Given the description of an element on the screen output the (x, y) to click on. 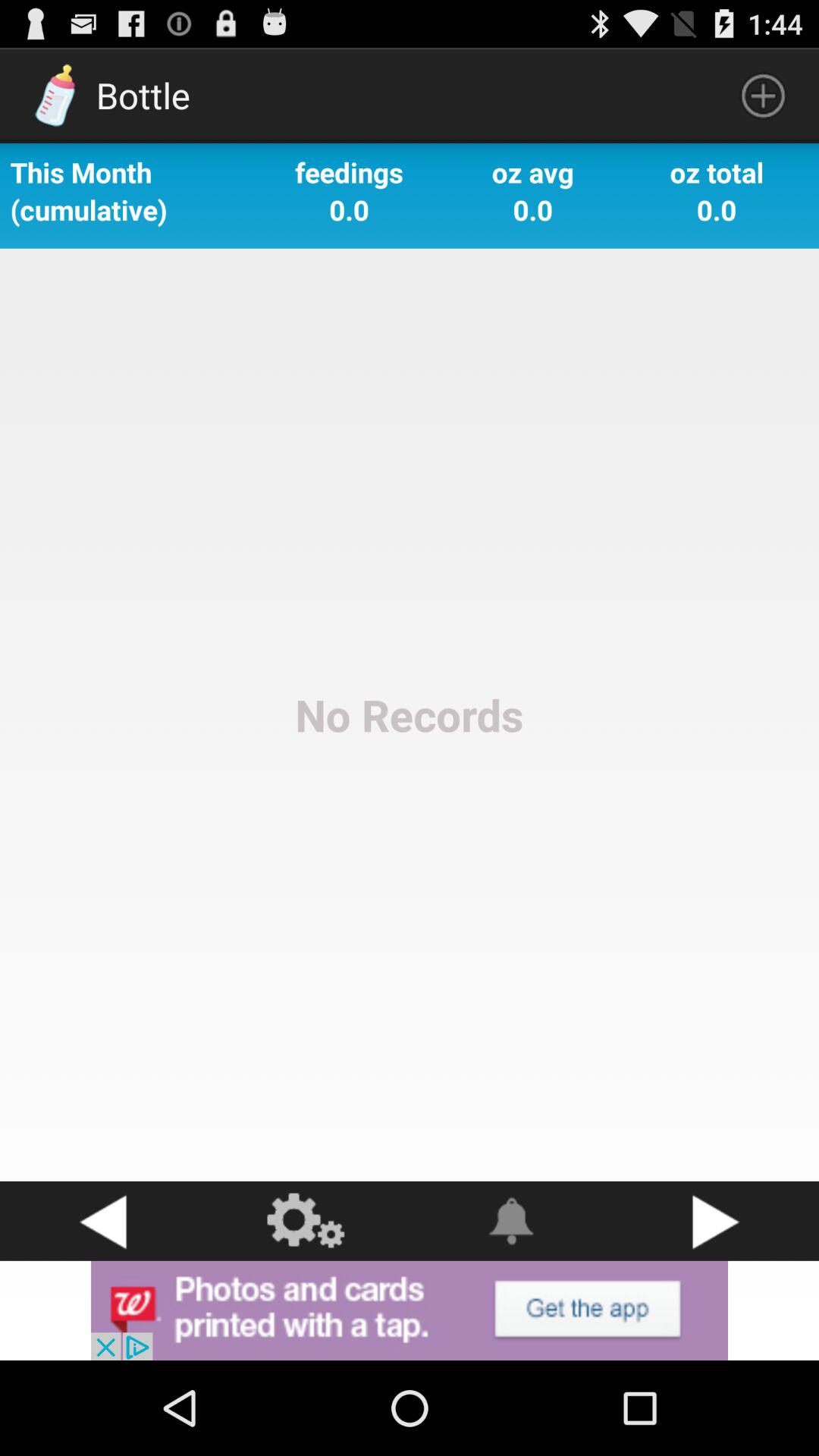
setting button (306, 1220)
